Given the description of an element on the screen output the (x, y) to click on. 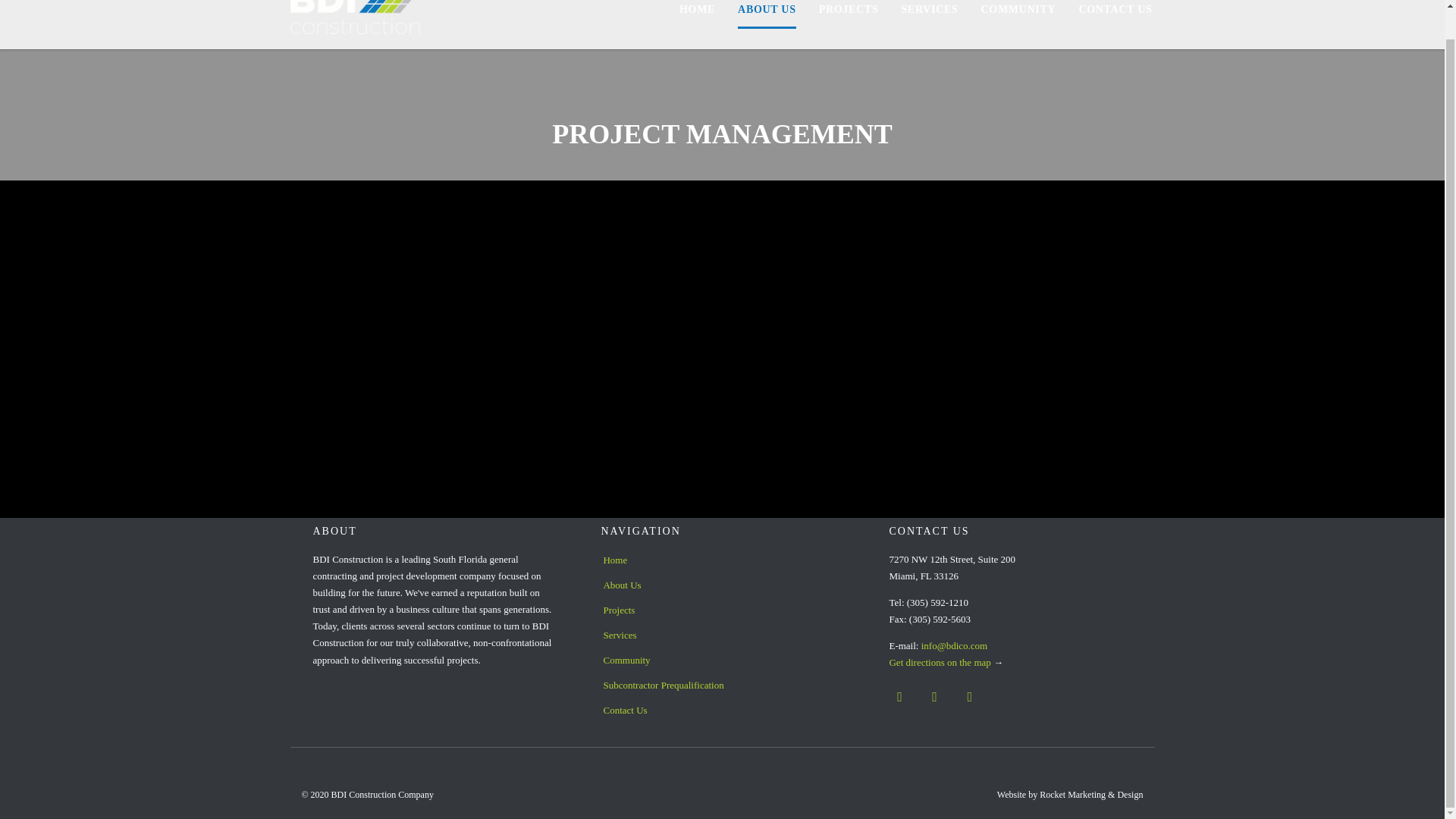
Home (721, 561)
Contact Us (721, 711)
Projects (721, 611)
HOME (696, 14)
COMMUNITY (1019, 14)
BDI Construction (355, 24)
Get directions on the map (939, 662)
CONTACT US (1114, 14)
Services (721, 636)
PROJECTS (848, 14)
